Given the description of an element on the screen output the (x, y) to click on. 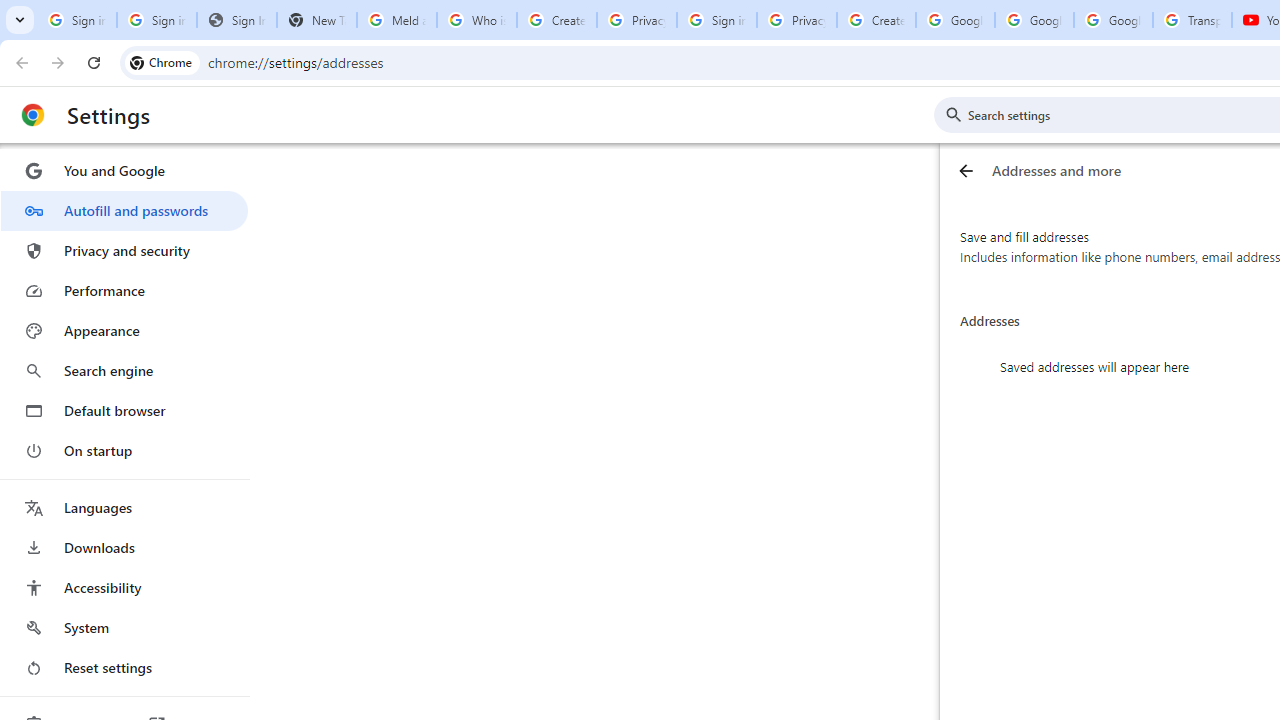
Who is my administrator? - Google Account Help (476, 20)
Privacy and security (124, 250)
Search engine (124, 370)
Autofill and passwords (124, 210)
